Given the description of an element on the screen output the (x, y) to click on. 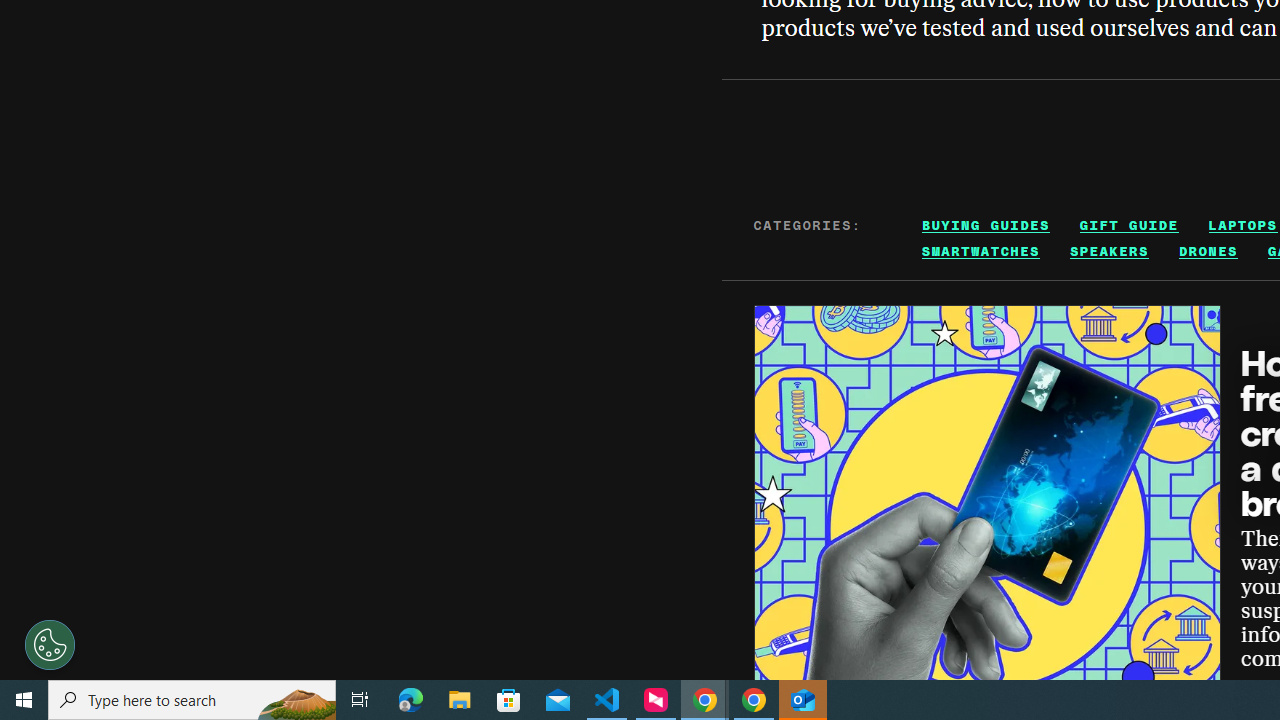
BUYING GUIDES (985, 225)
Open Preferences (50, 644)
LAPTOPS (1242, 225)
SMARTWATCHES (980, 251)
GIFT GUIDE (1129, 225)
SPEAKERS (1109, 251)
DRONES (1208, 251)
